Given the description of an element on the screen output the (x, y) to click on. 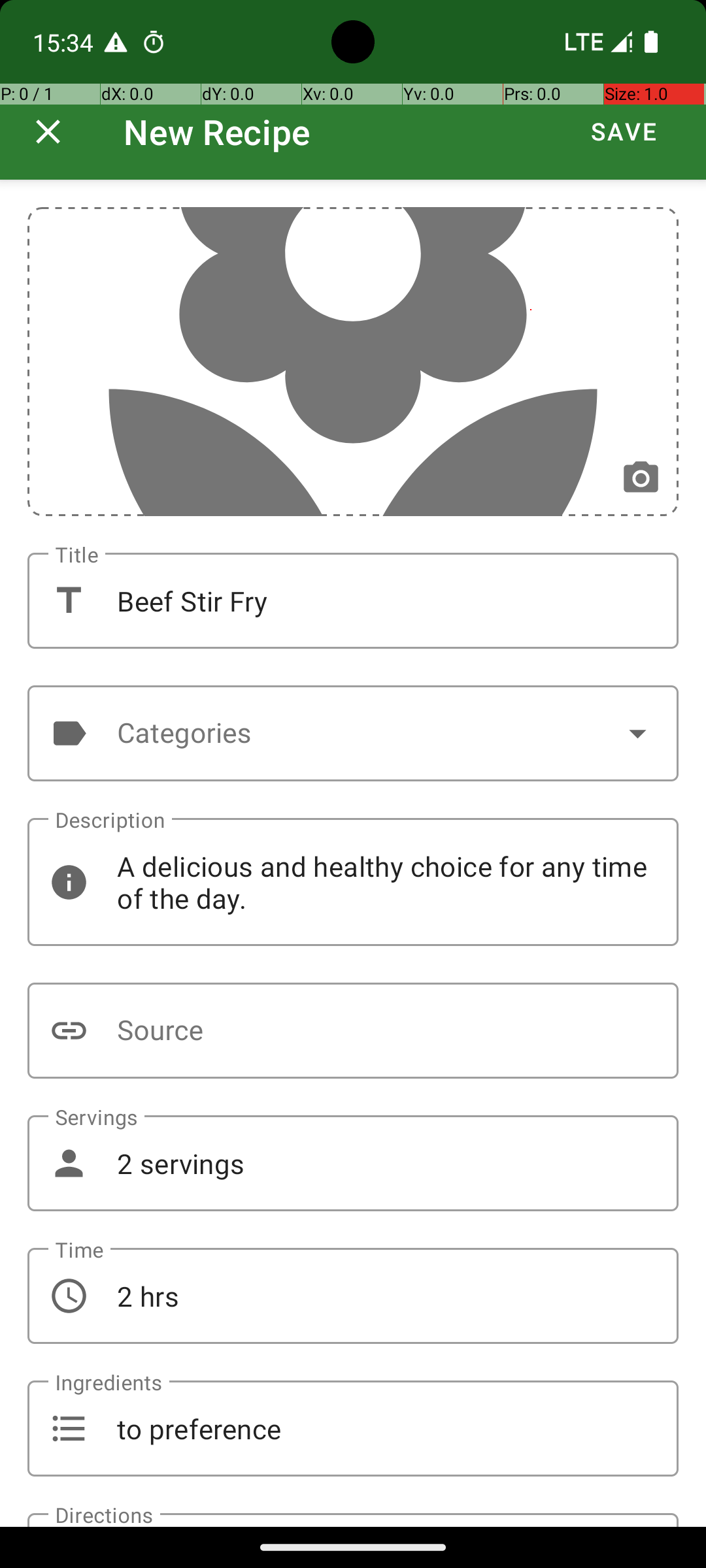
Change photo Element type: android.widget.ImageView (640, 478)
Source Element type: android.widget.EditText (352, 1030)
2 servings Element type: android.widget.EditText (352, 1163)
2 hrs Element type: android.widget.EditText (352, 1295)
to preference Element type: android.widget.EditText (352, 1428)
Stir-fry beef slices with broccoli, bell peppers, and onions in soy sauce and garlic. Serve over rice or noodles. Feel free to substitute with ingredients you have on hand. Element type: android.widget.EditText (352, 1519)
